Given the description of an element on the screen output the (x, y) to click on. 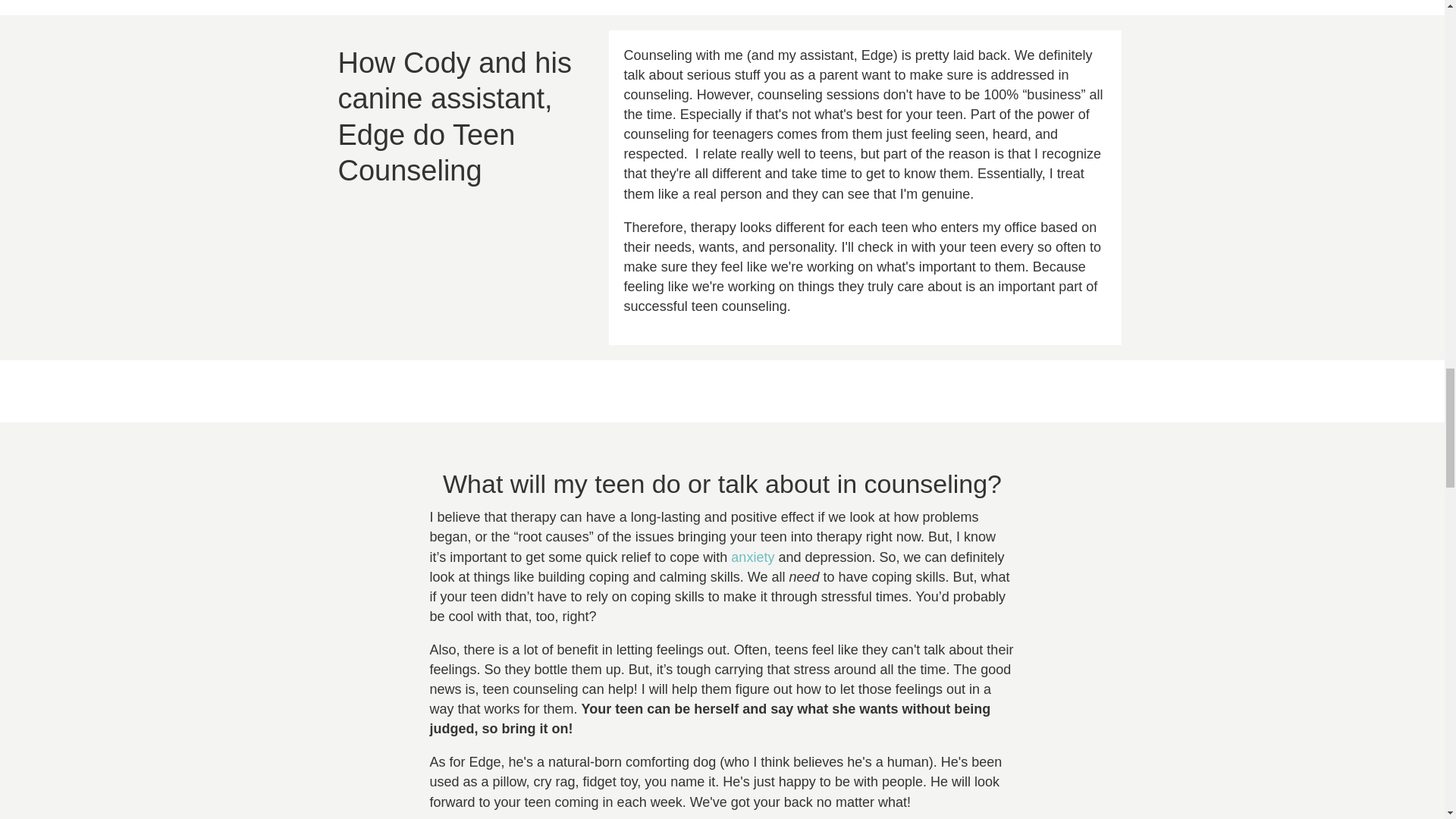
anxiety (752, 557)
